Given the description of an element on the screen output the (x, y) to click on. 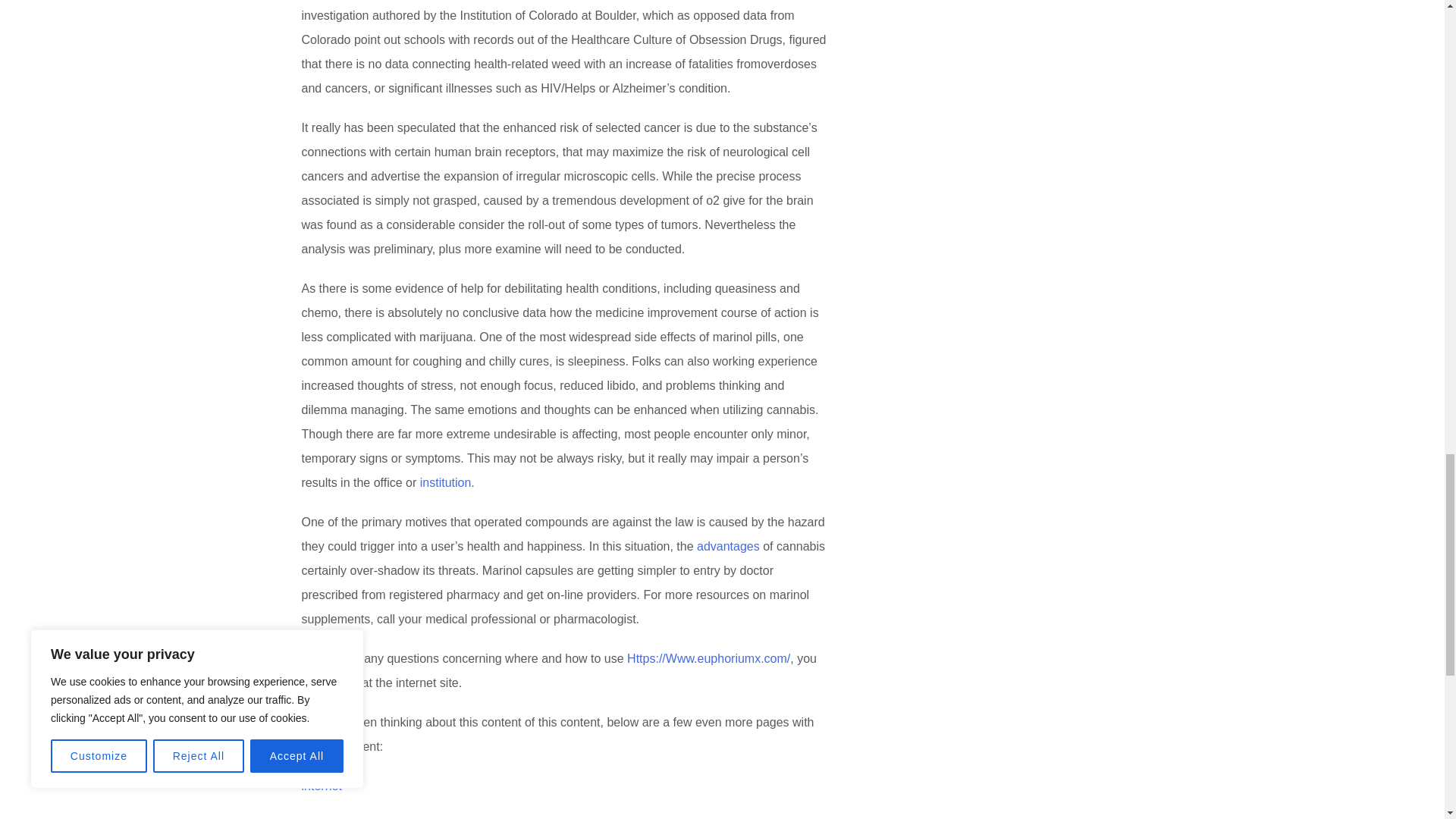
internet (321, 785)
institution (445, 481)
advantages (728, 545)
